Given the description of an element on the screen output the (x, y) to click on. 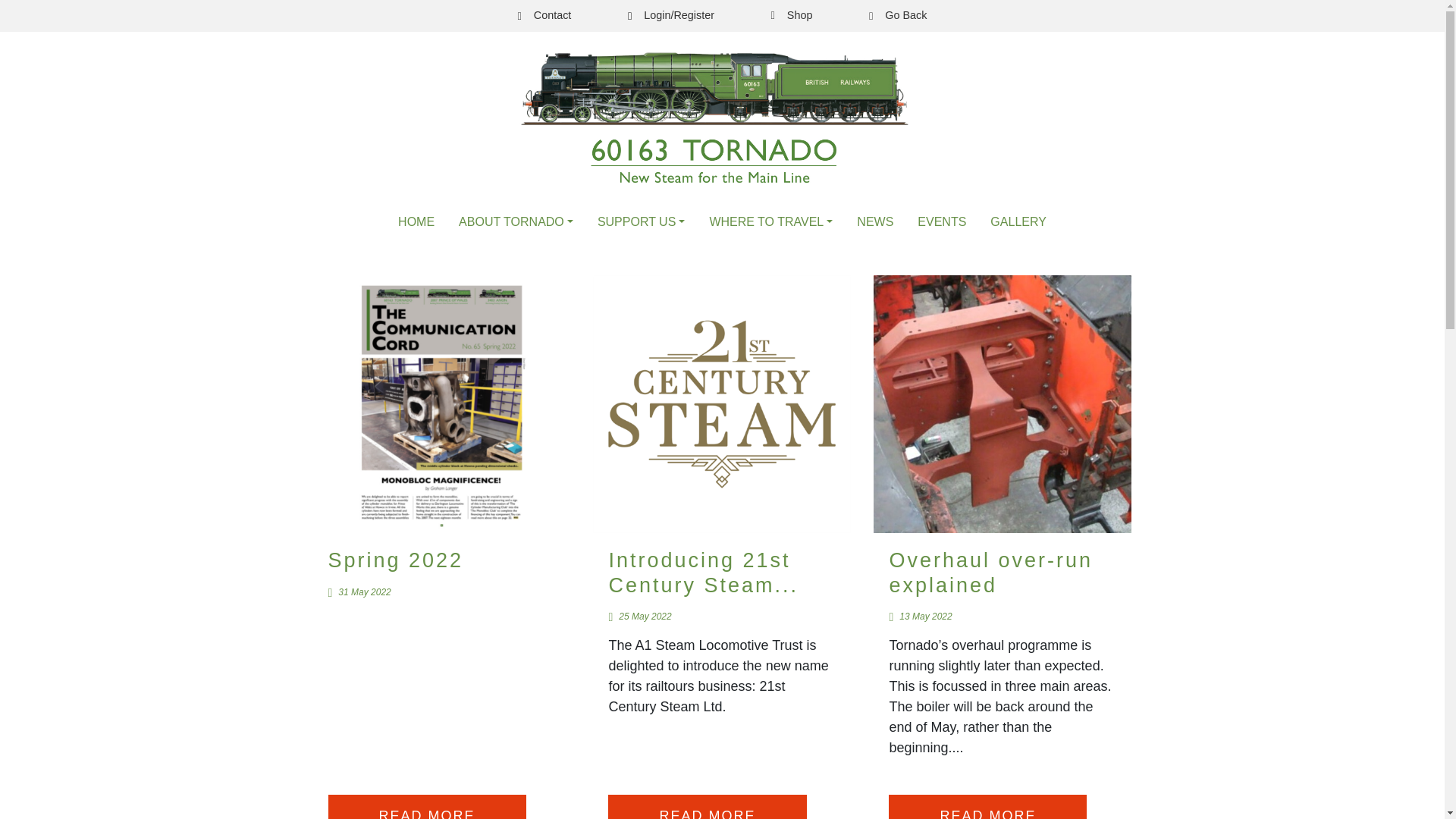
SUPPORT US (640, 222)
Shop (791, 15)
READ MORE (426, 806)
Spring 2022 (395, 559)
ABOUT TORNADO (515, 222)
EVENTS (941, 222)
Contact (543, 15)
GALLERY (1018, 222)
HOME (415, 222)
READ MORE (707, 806)
Go Back (897, 15)
WHERE TO TRAVEL (770, 222)
NEWS (875, 222)
Introducing 21st Century Steam... (702, 572)
